Given the description of an element on the screen output the (x, y) to click on. 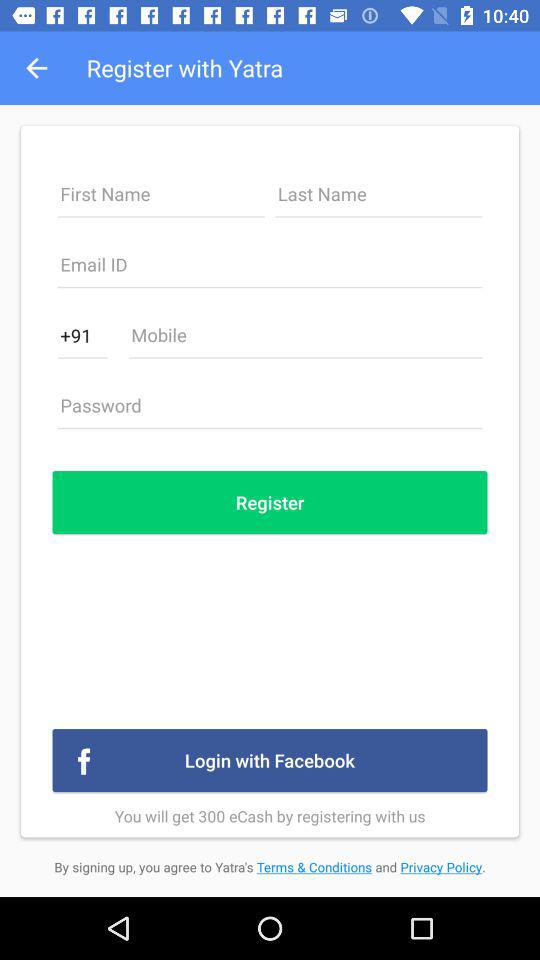
enter mobile number (305, 340)
